Given the description of an element on the screen output the (x, y) to click on. 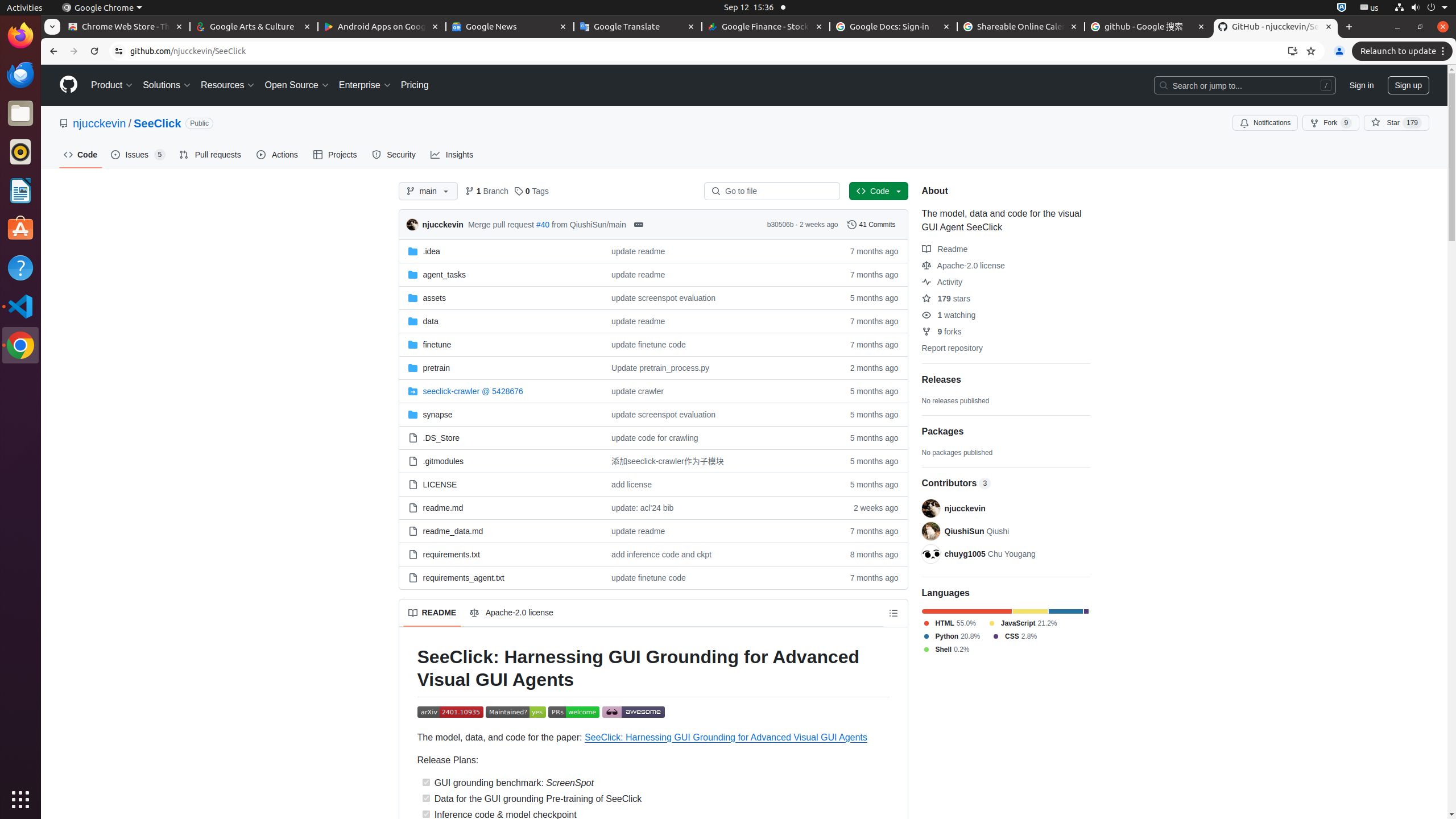
Google Chrome Element type: push-button (20, 344)
 Readme Element type: link (944, 248)
njucckevin Element type: link (413, 224)
synapse, (Directory) Element type: table-cell (500, 413)
Permalink: SeeClick: Harnessing GUI Grounding for Advanced Visual GUI Agents Element type: link (408, 668)
